Given the description of an element on the screen output the (x, y) to click on. 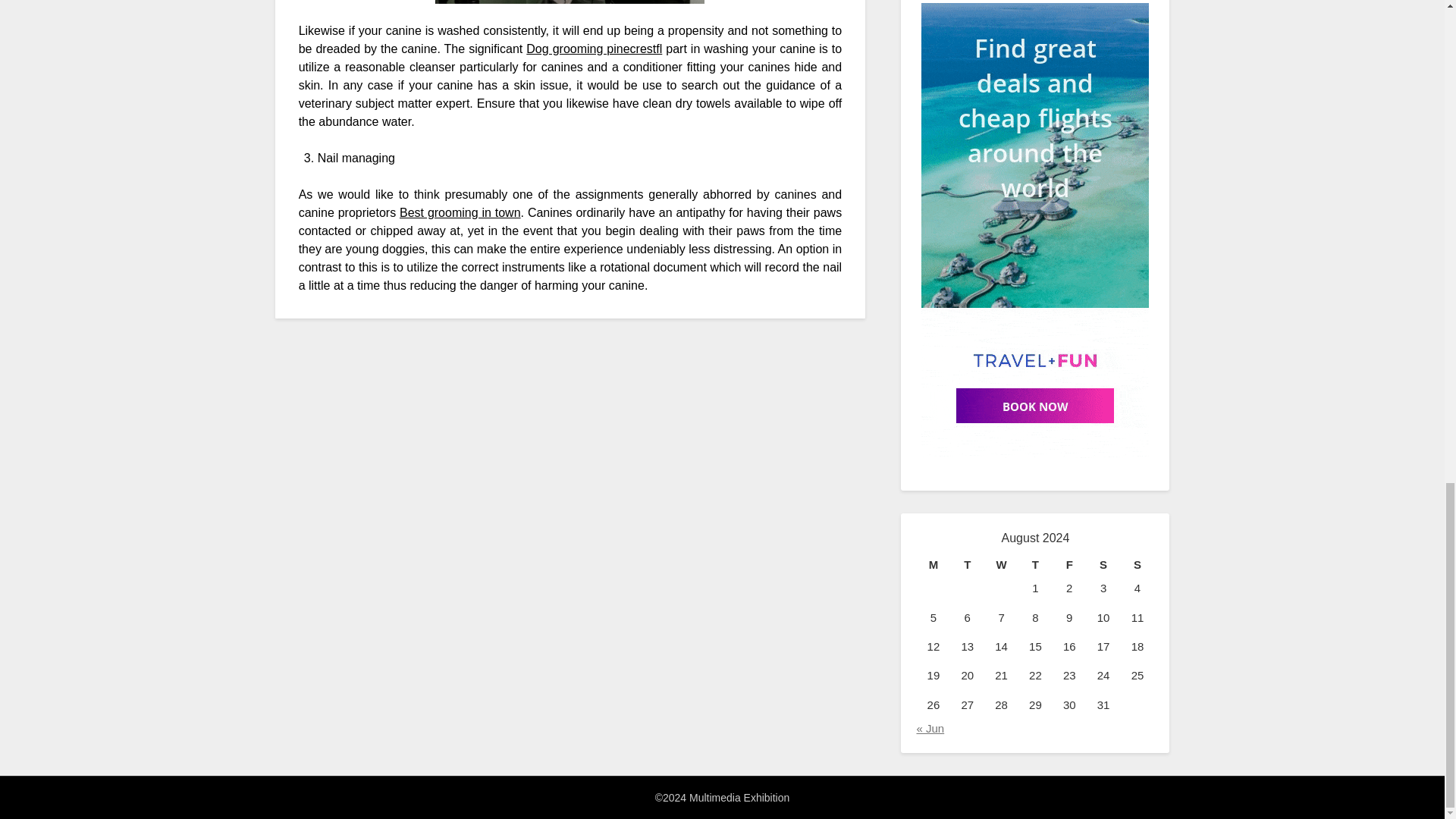
Saturday (1103, 565)
Best grooming in town (459, 212)
Monday (932, 565)
Friday (1069, 565)
Sunday (1137, 565)
Wednesday (1000, 565)
Dog grooming pinecrestfl (593, 48)
Thursday (1034, 565)
Tuesday (967, 565)
